Given the description of an element on the screen output the (x, y) to click on. 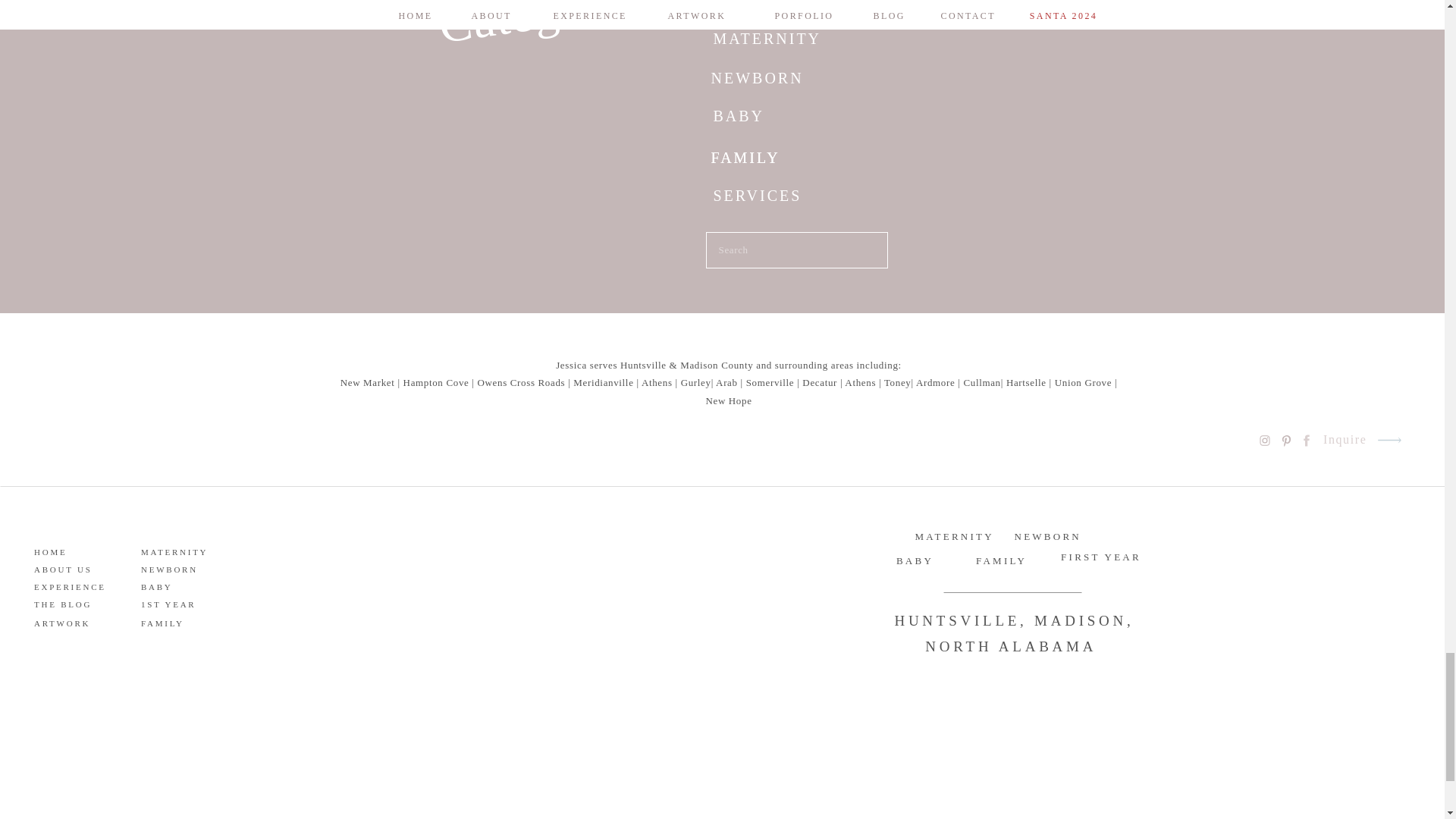
arrow (1389, 439)
